Given the description of an element on the screen output the (x, y) to click on. 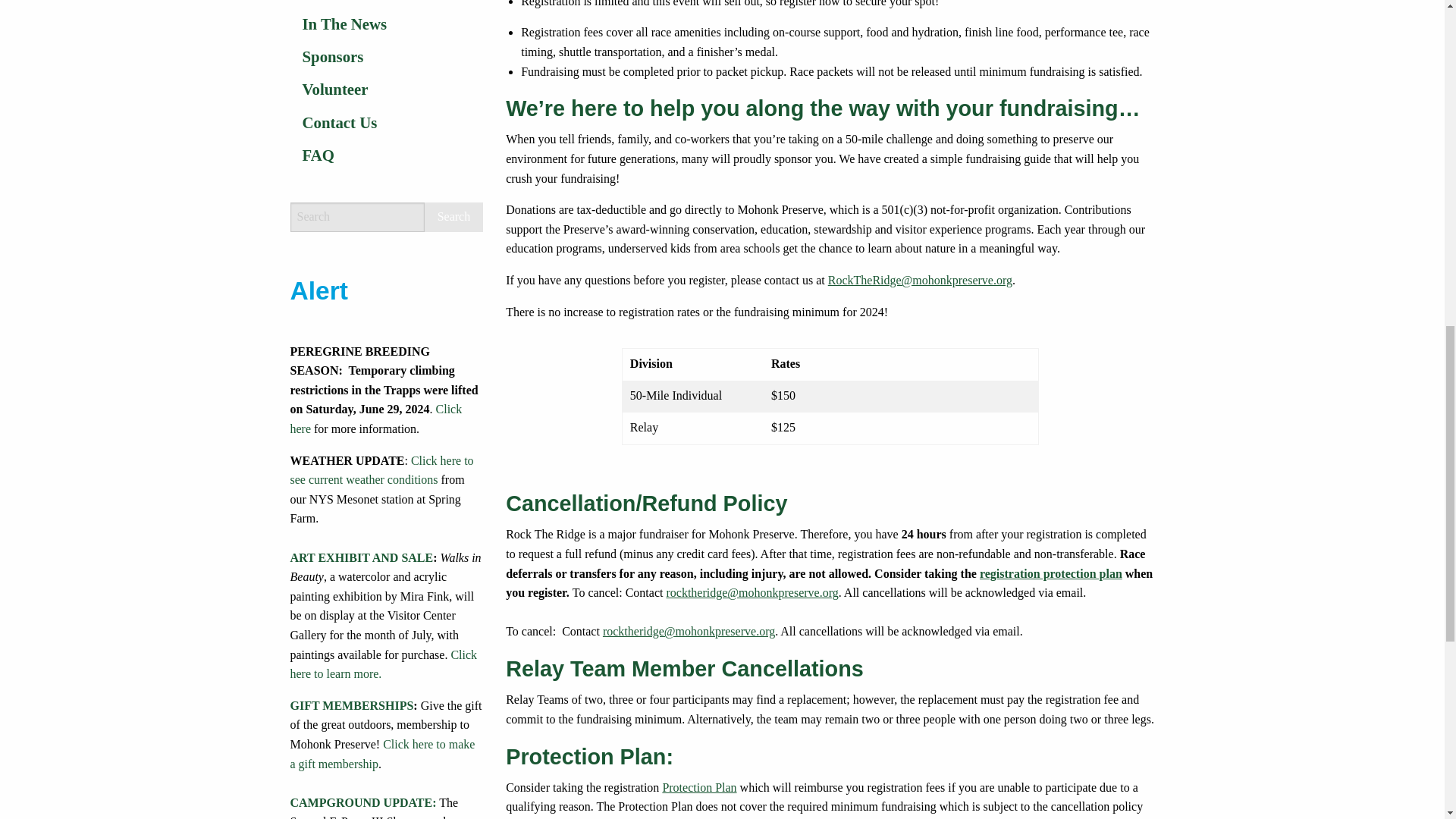
Search (454, 216)
